Given the description of an element on the screen output the (x, y) to click on. 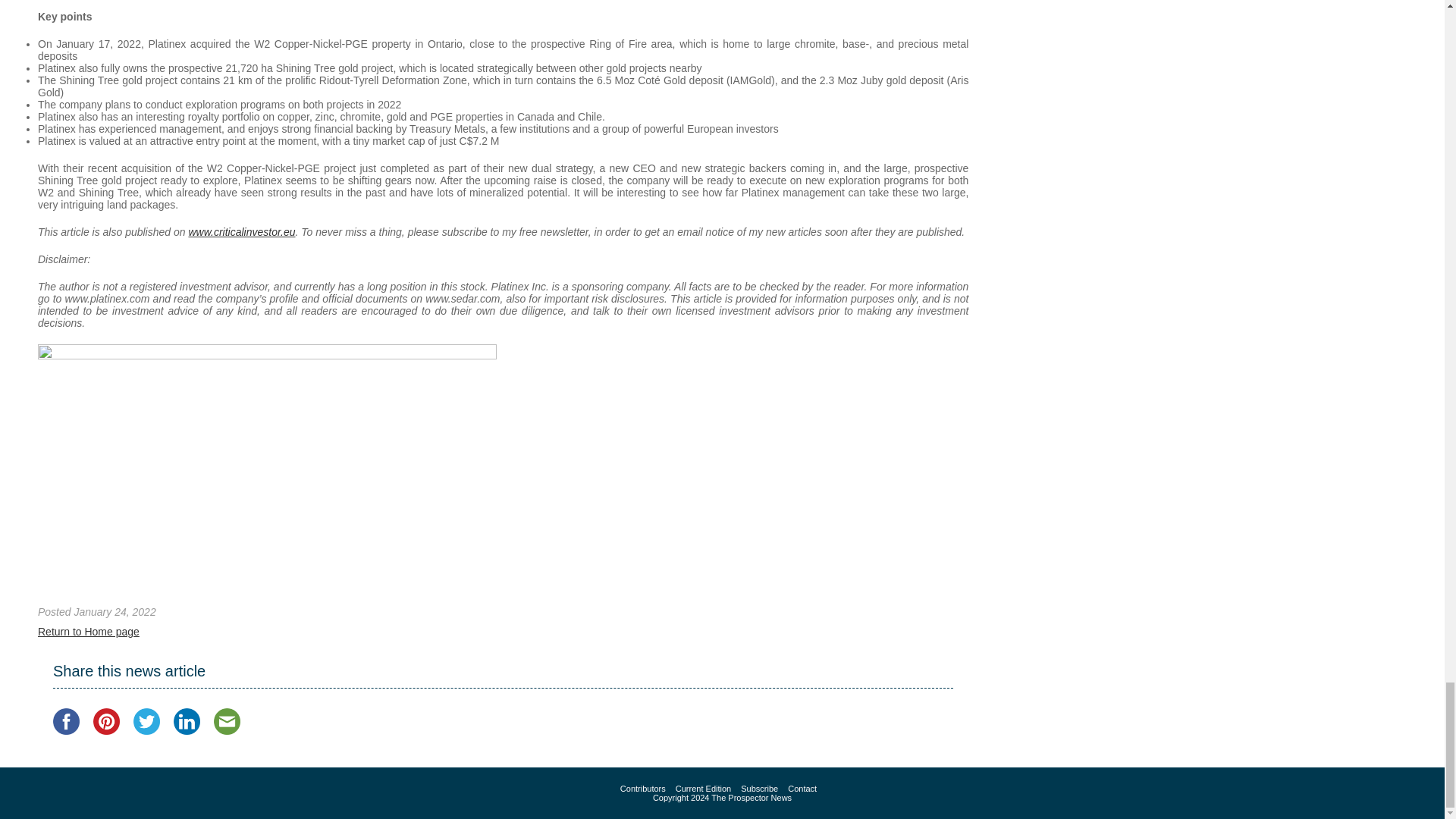
facebook (66, 721)
pinterest (106, 721)
Return to Home page (88, 631)
twitter (146, 721)
www.criticalinvestor.eu (241, 232)
